Given the description of an element on the screen output the (x, y) to click on. 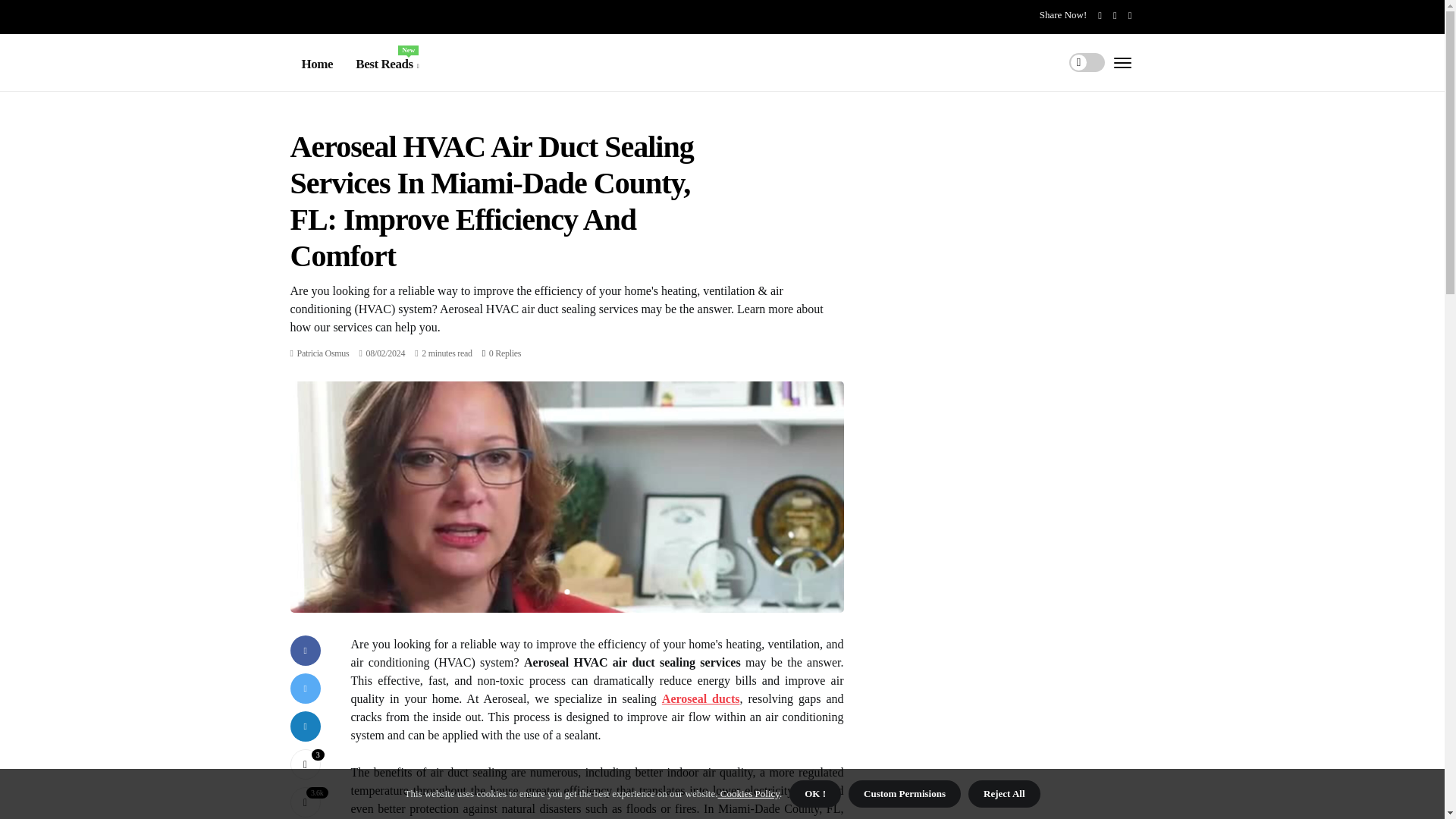
Posts by Patricia Osmus (387, 64)
Patricia Osmus (323, 353)
Like (323, 353)
3 (304, 764)
0 Replies (304, 764)
1 (505, 353)
